Given the description of an element on the screen output the (x, y) to click on. 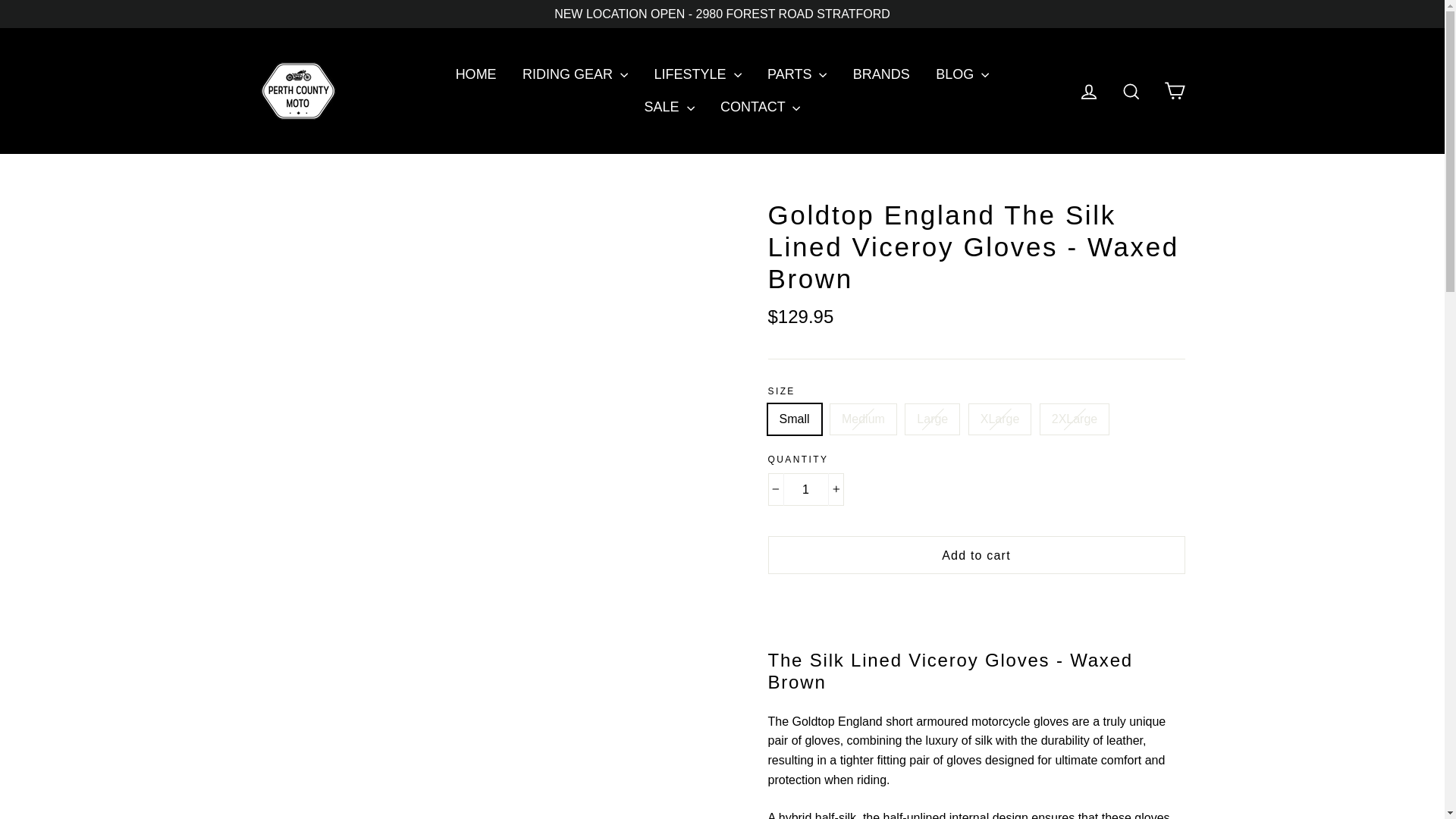
1 (805, 489)
